Given the description of an element on the screen output the (x, y) to click on. 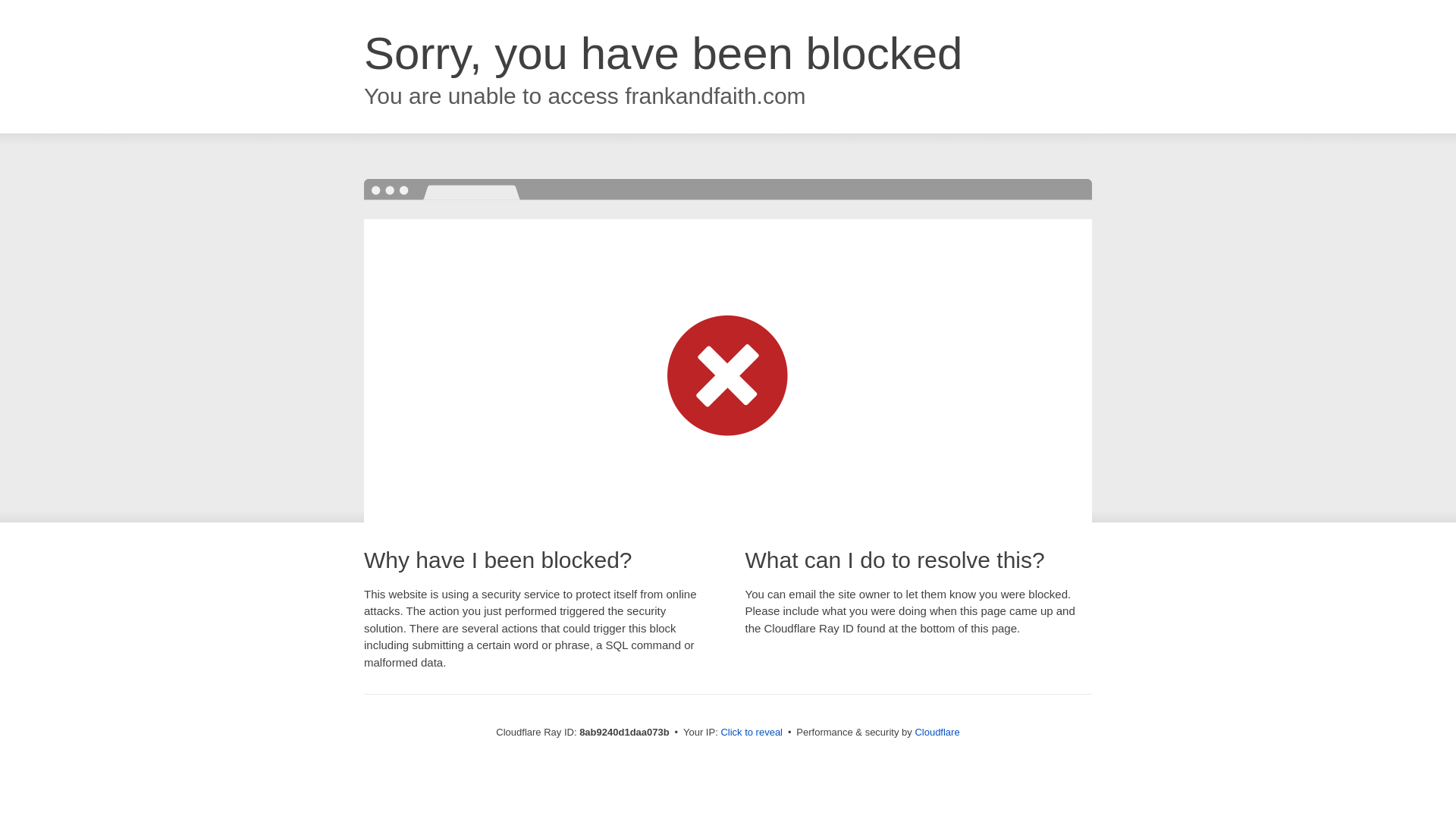
Cloudflare (936, 731)
Click to reveal (751, 732)
